Given the description of an element on the screen output the (x, y) to click on. 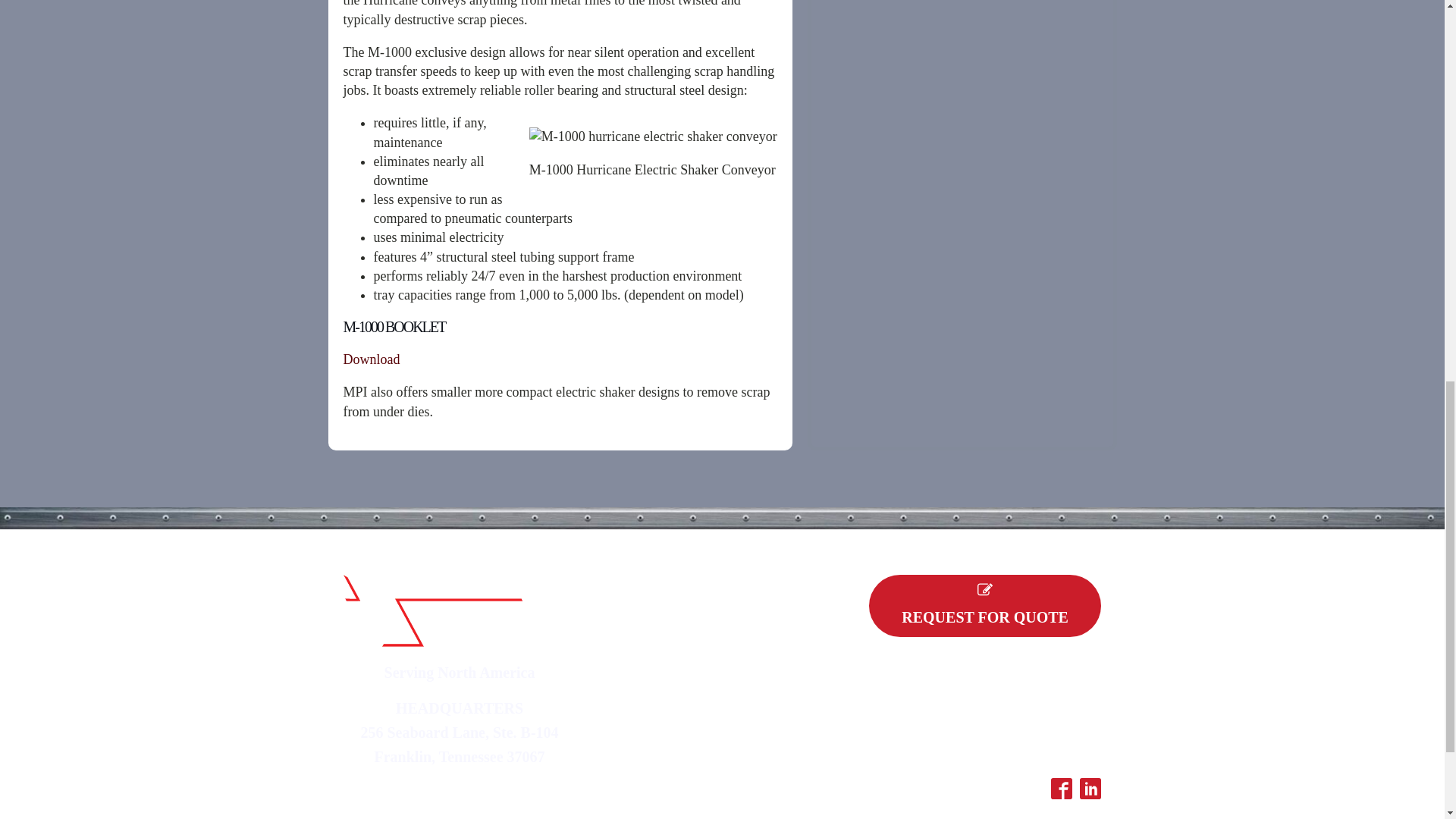
M-1000 hurricane electric shaker conveyor (653, 136)
